Given the description of an element on the screen output the (x, y) to click on. 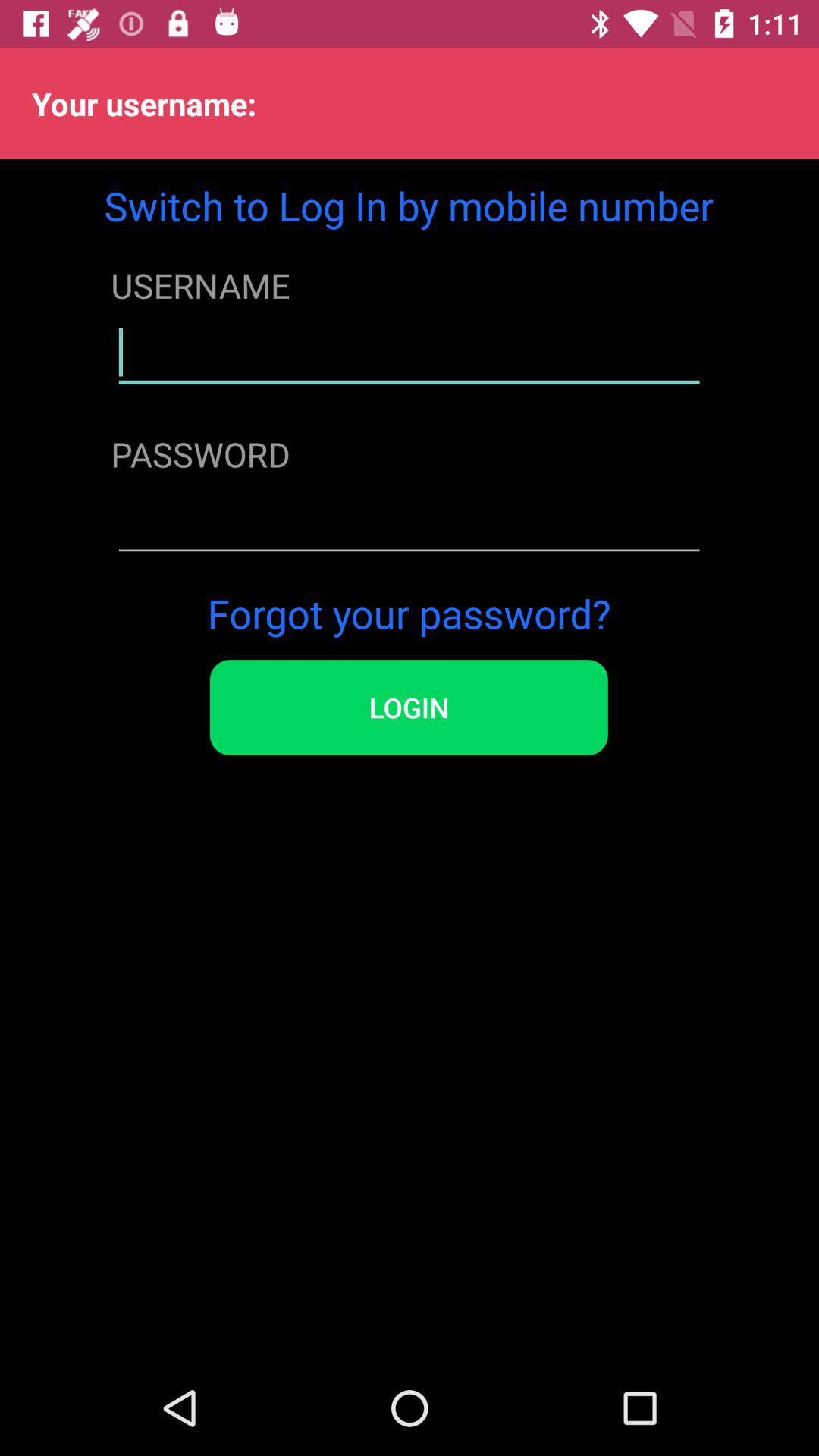
enter password (408, 522)
